Given the description of an element on the screen output the (x, y) to click on. 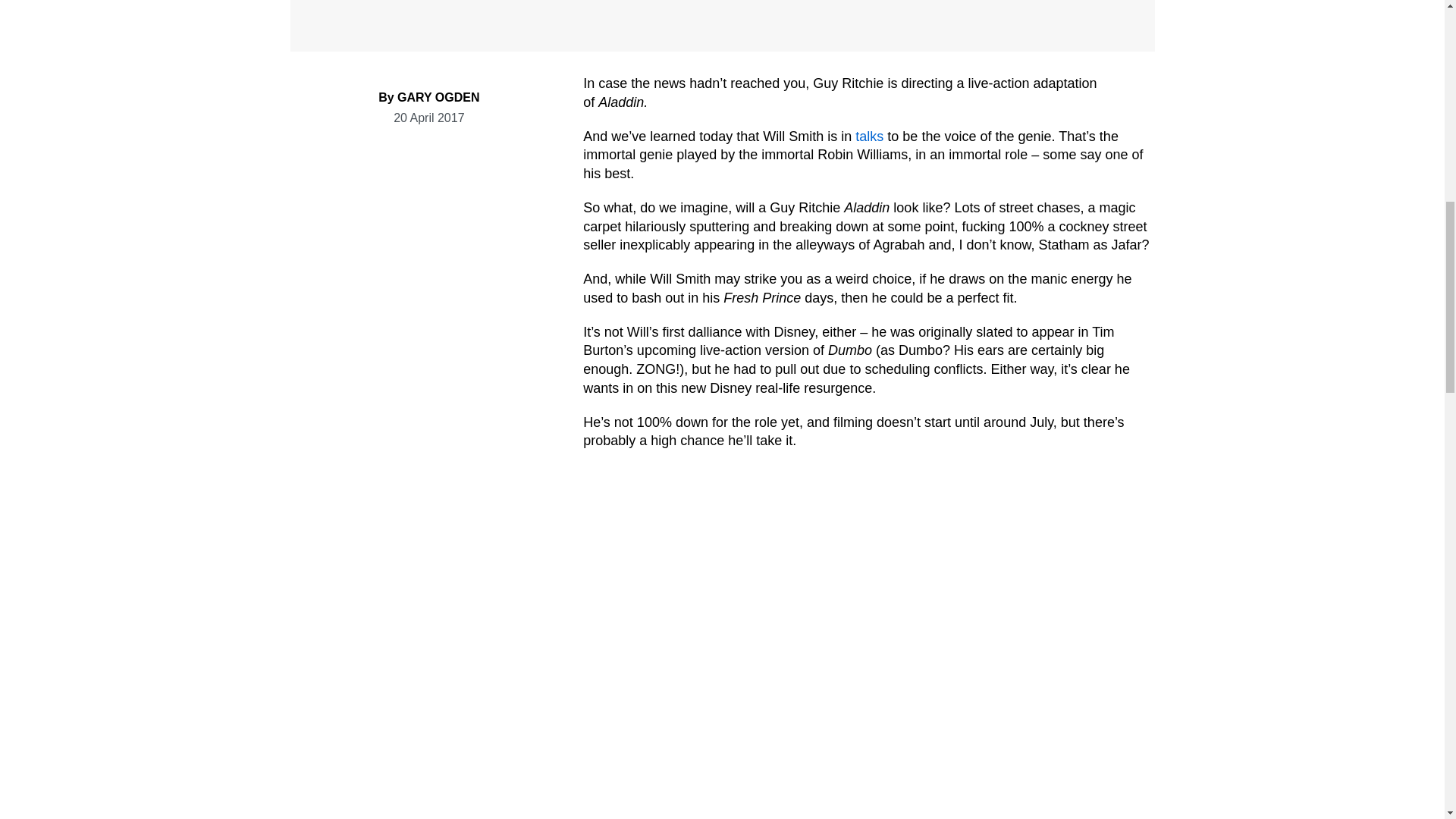
talks (869, 136)
By GARY OGDEN (428, 97)
